Given the description of an element on the screen output the (x, y) to click on. 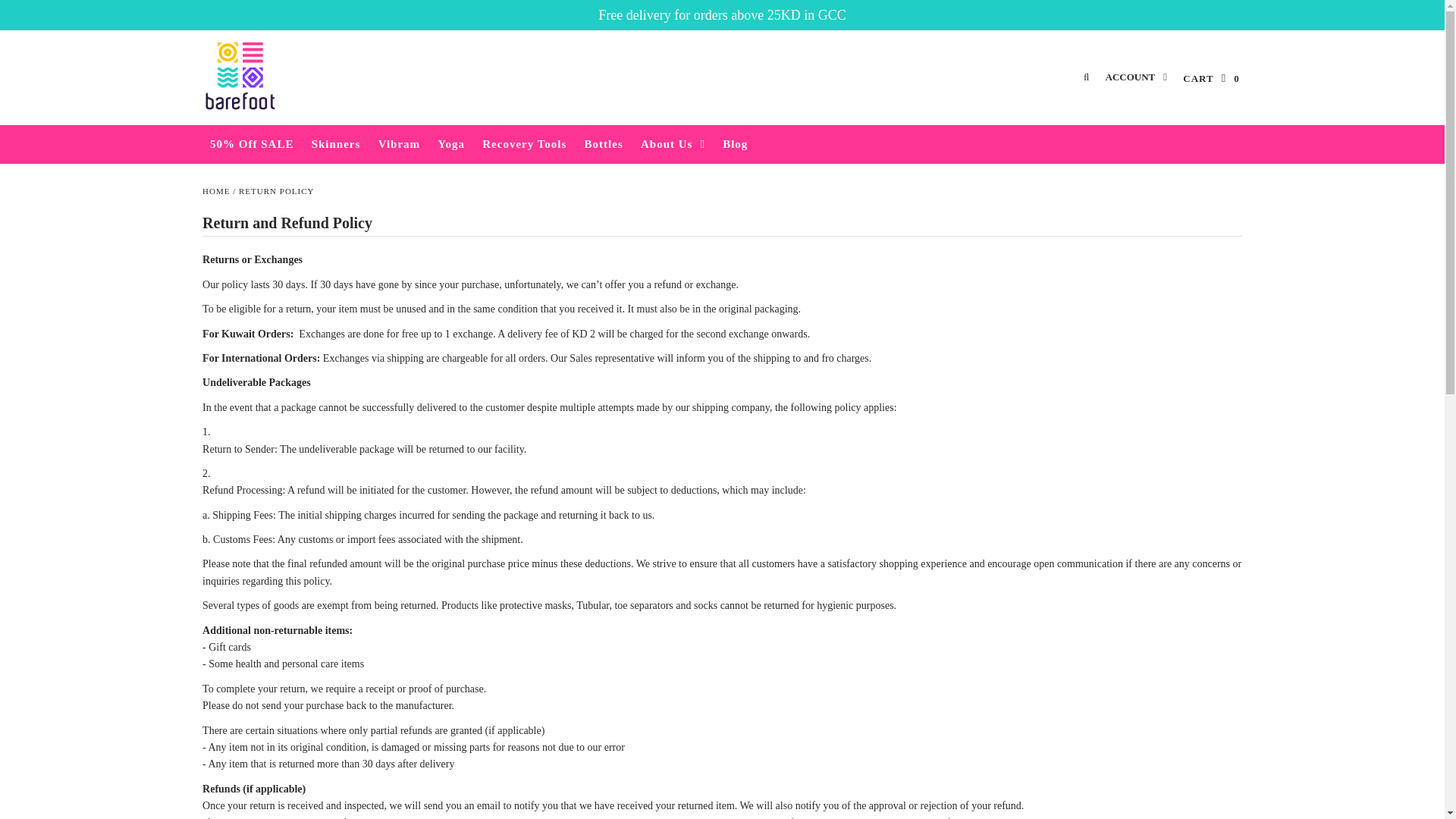
Skinners (336, 143)
ACCOUNT (1136, 76)
About Us (673, 143)
HOME (216, 190)
Recovery Tools (523, 143)
Home (216, 190)
Yoga (450, 143)
CART0 (1210, 77)
Vibram (399, 143)
Bottles (603, 143)
Blog (734, 143)
